Given the description of an element on the screen output the (x, y) to click on. 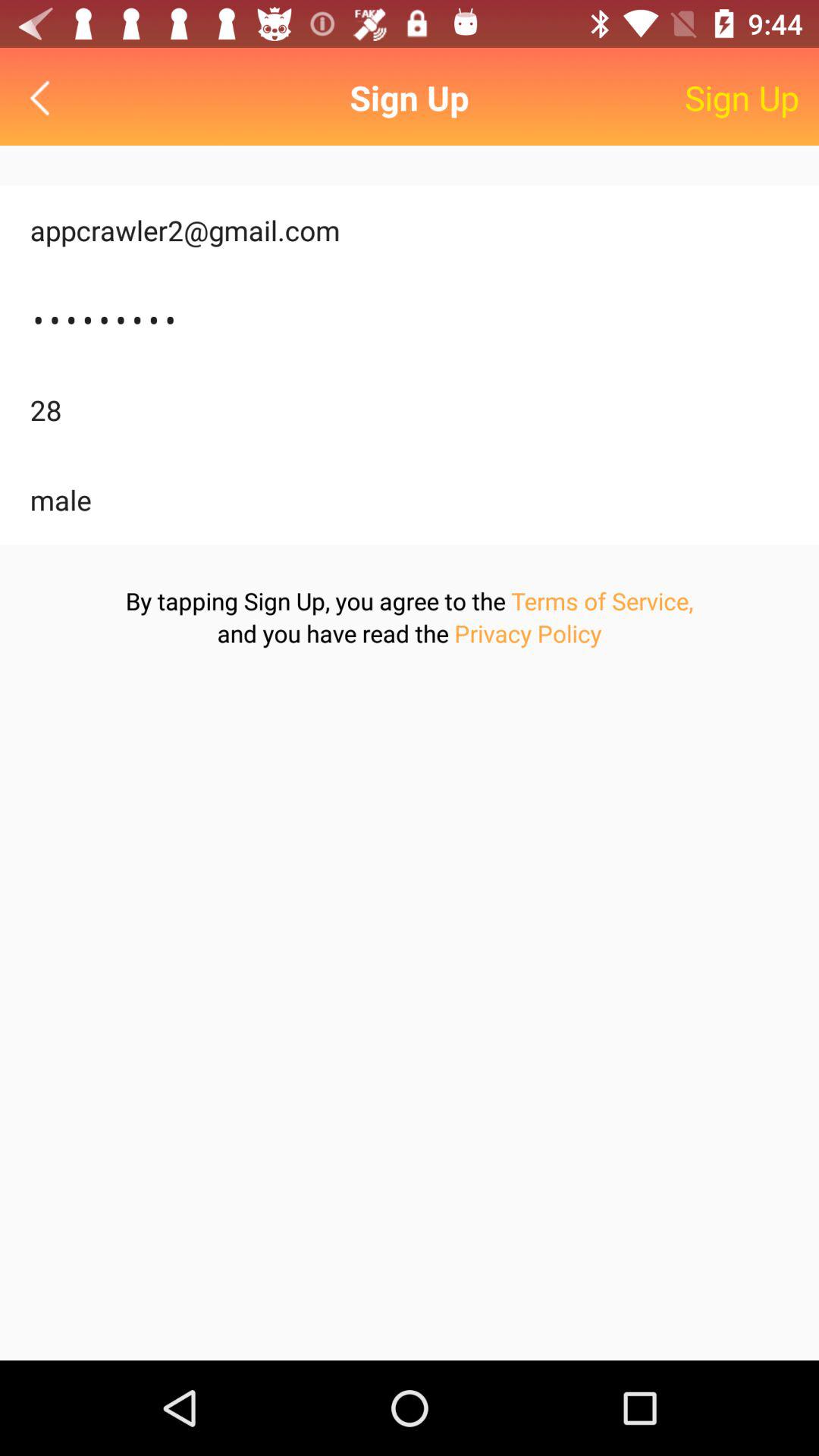
turn on terms of service, (602, 600)
